Given the description of an element on the screen output the (x, y) to click on. 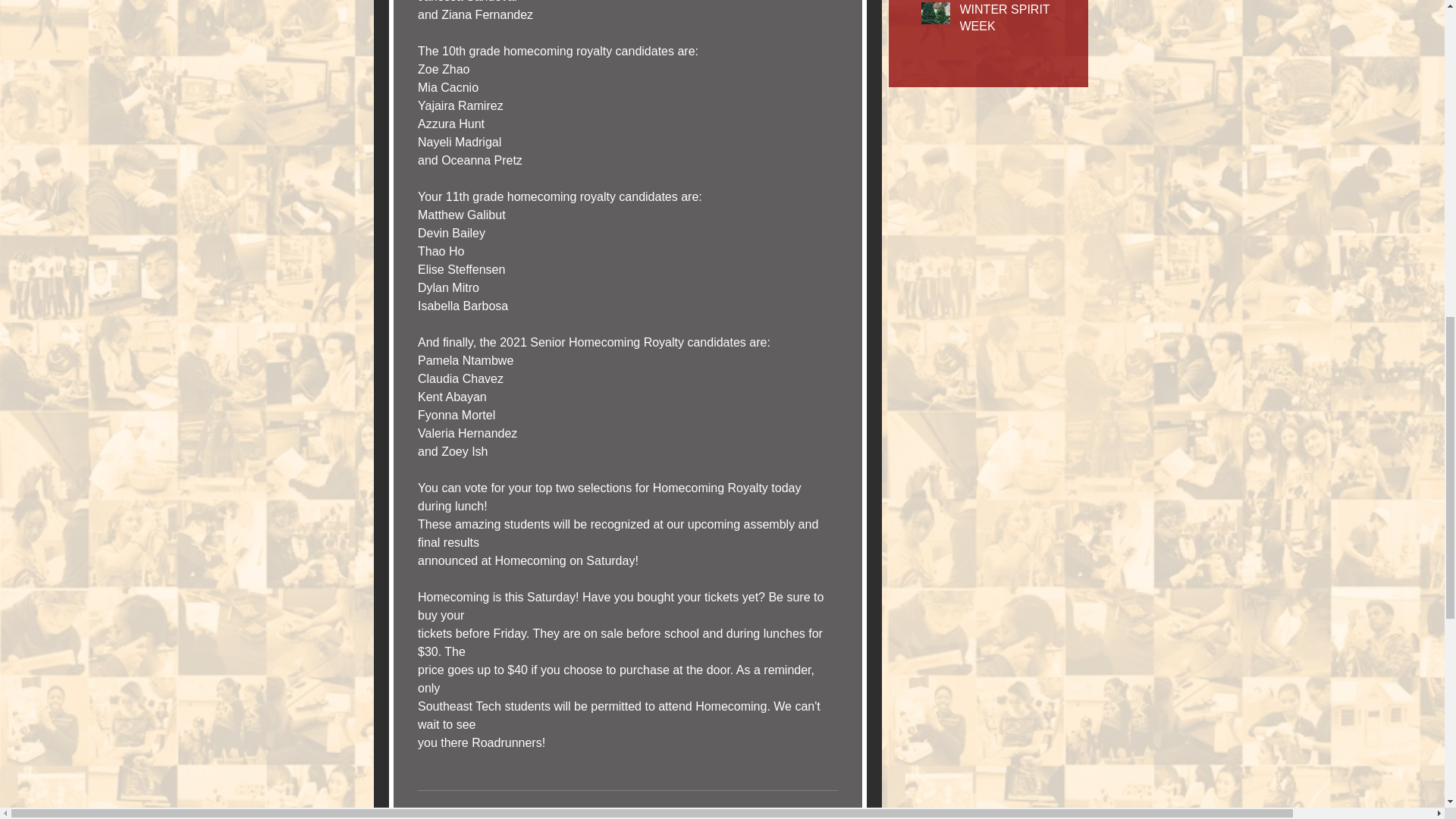
WINTER SPIRIT WEEK (1013, 21)
